Given the description of an element on the screen output the (x, y) to click on. 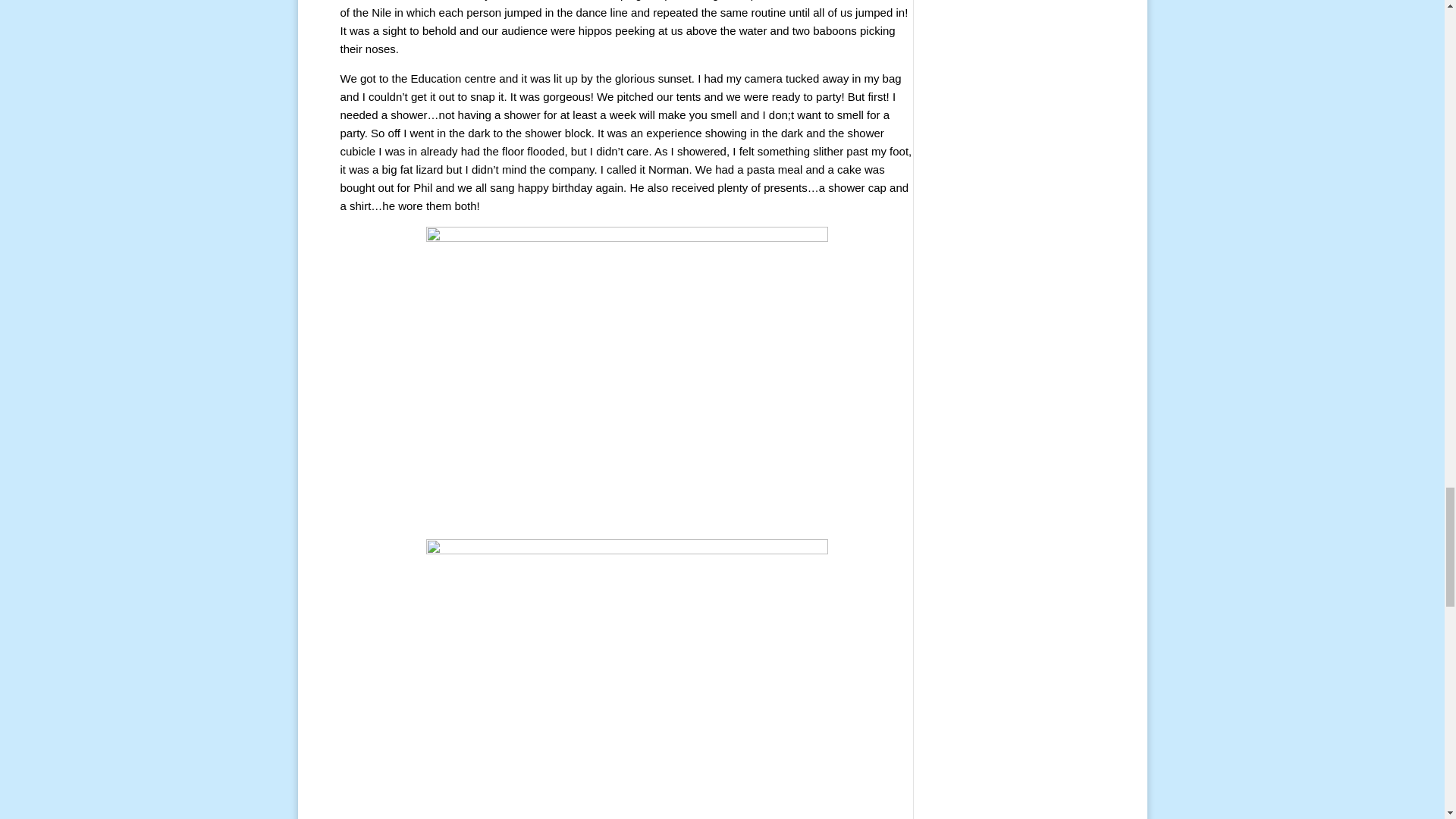
The Party! (627, 678)
More opening of pressies (627, 376)
